Given the description of an element on the screen output the (x, y) to click on. 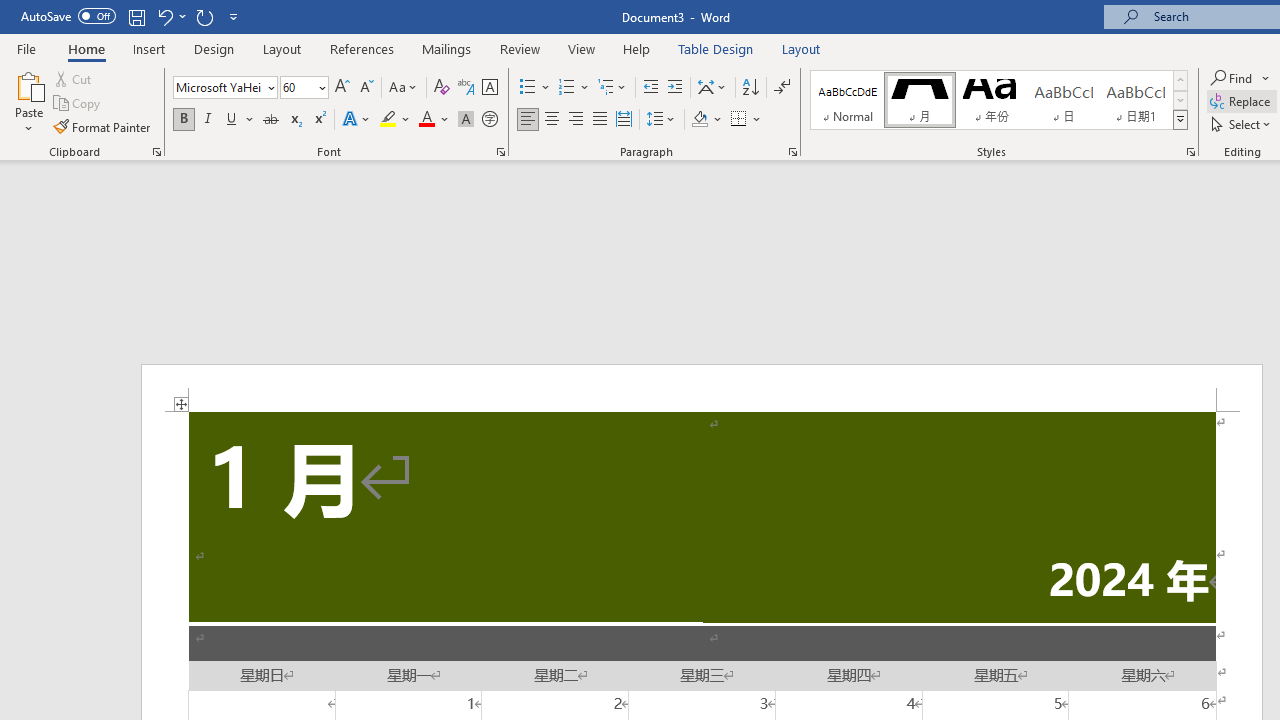
Home (86, 48)
System (10, 11)
Borders (739, 119)
Bold (183, 119)
Phonetic Guide... (465, 87)
Underline (239, 119)
Paragraph... (792, 151)
Font Color (434, 119)
References (362, 48)
Bullets (527, 87)
Bullets (535, 87)
Decrease Indent (650, 87)
Layout (801, 48)
